Given the description of an element on the screen output the (x, y) to click on. 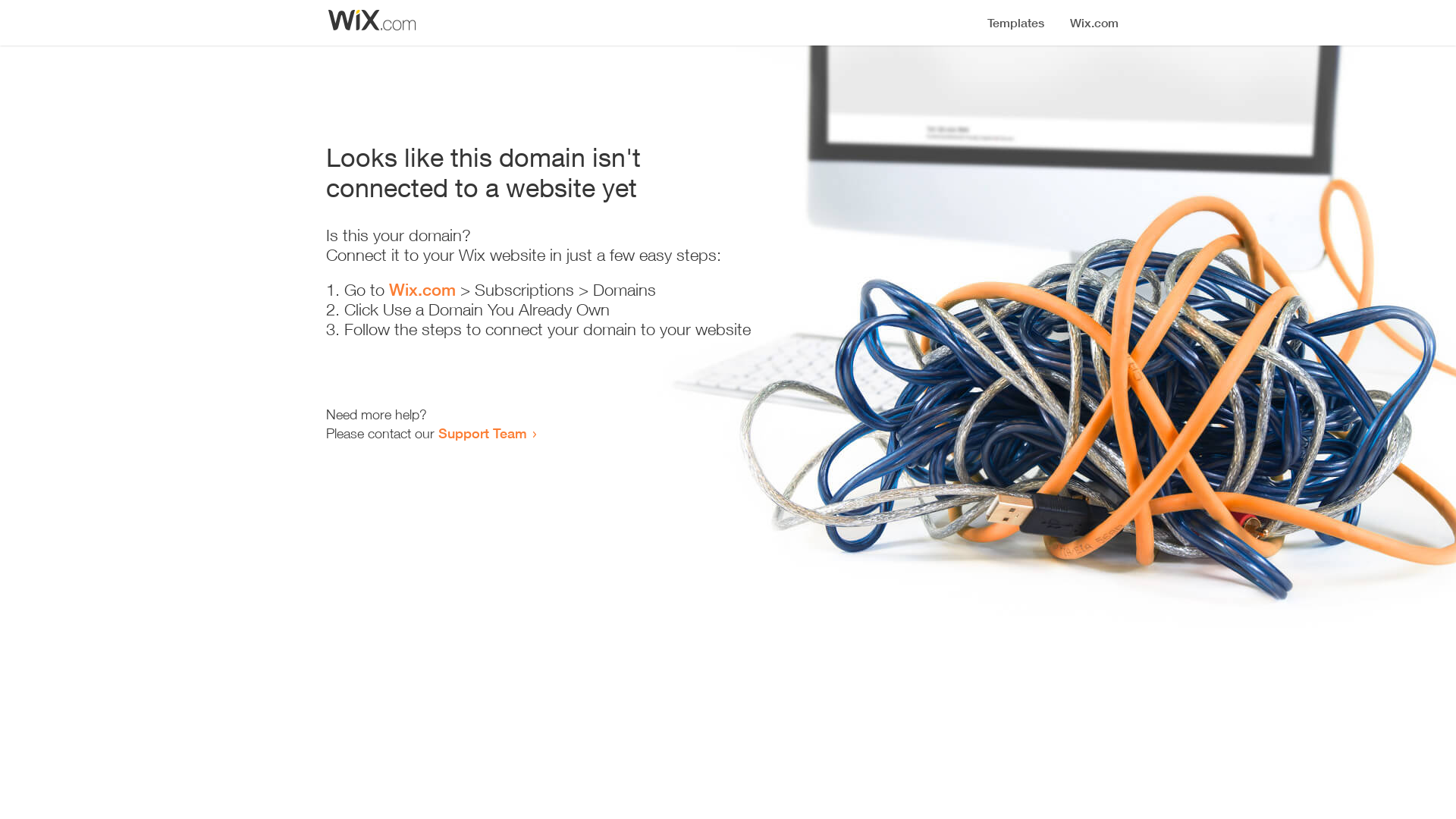
Support Team Element type: text (482, 432)
Wix.com Element type: text (422, 289)
